Given the description of an element on the screen output the (x, y) to click on. 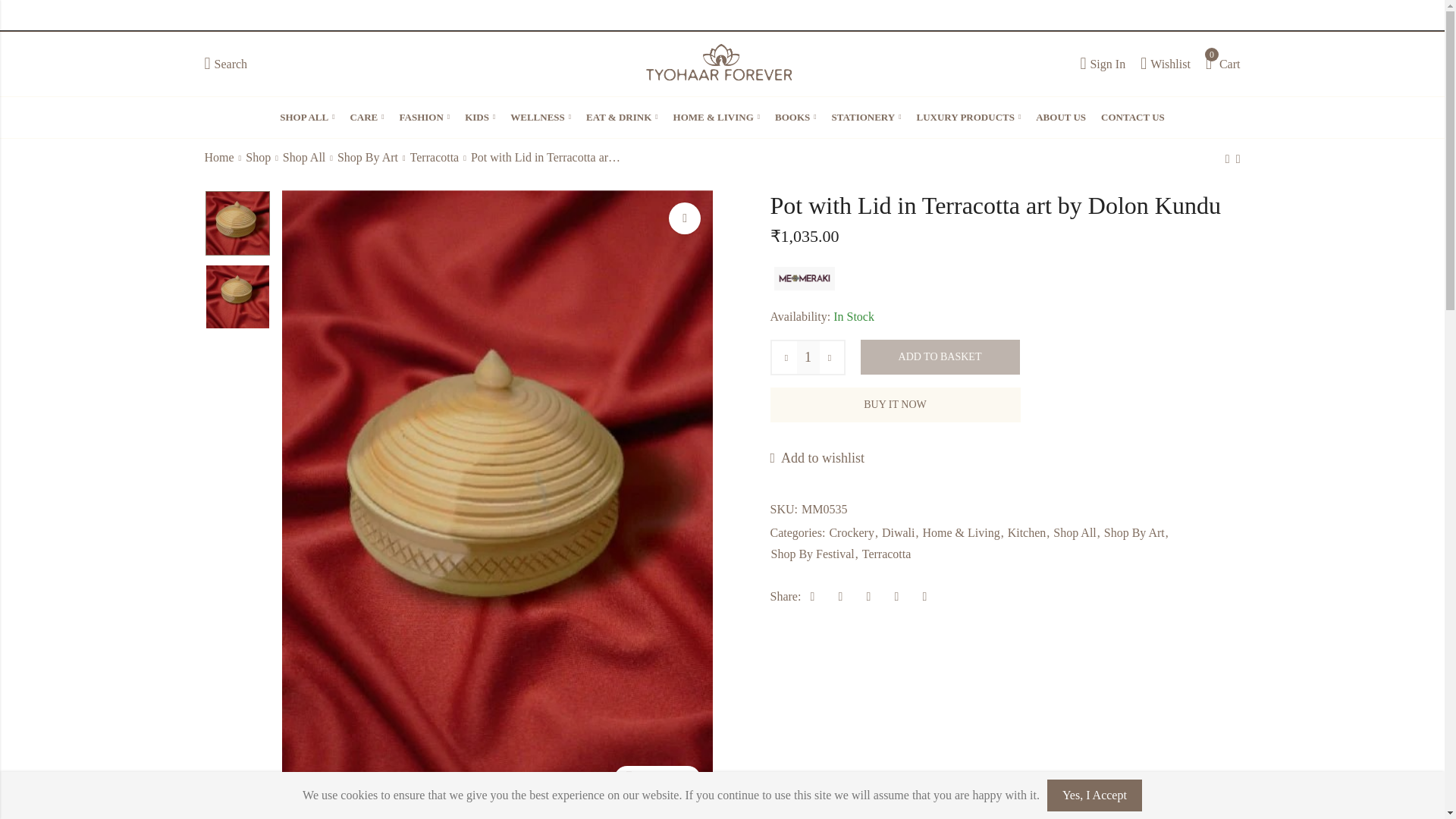
Sign In (1222, 63)
Search (1102, 63)
Me Meraki (226, 63)
SHOP ALL (804, 278)
Wishlist (307, 117)
